Given the description of an element on the screen output the (x, y) to click on. 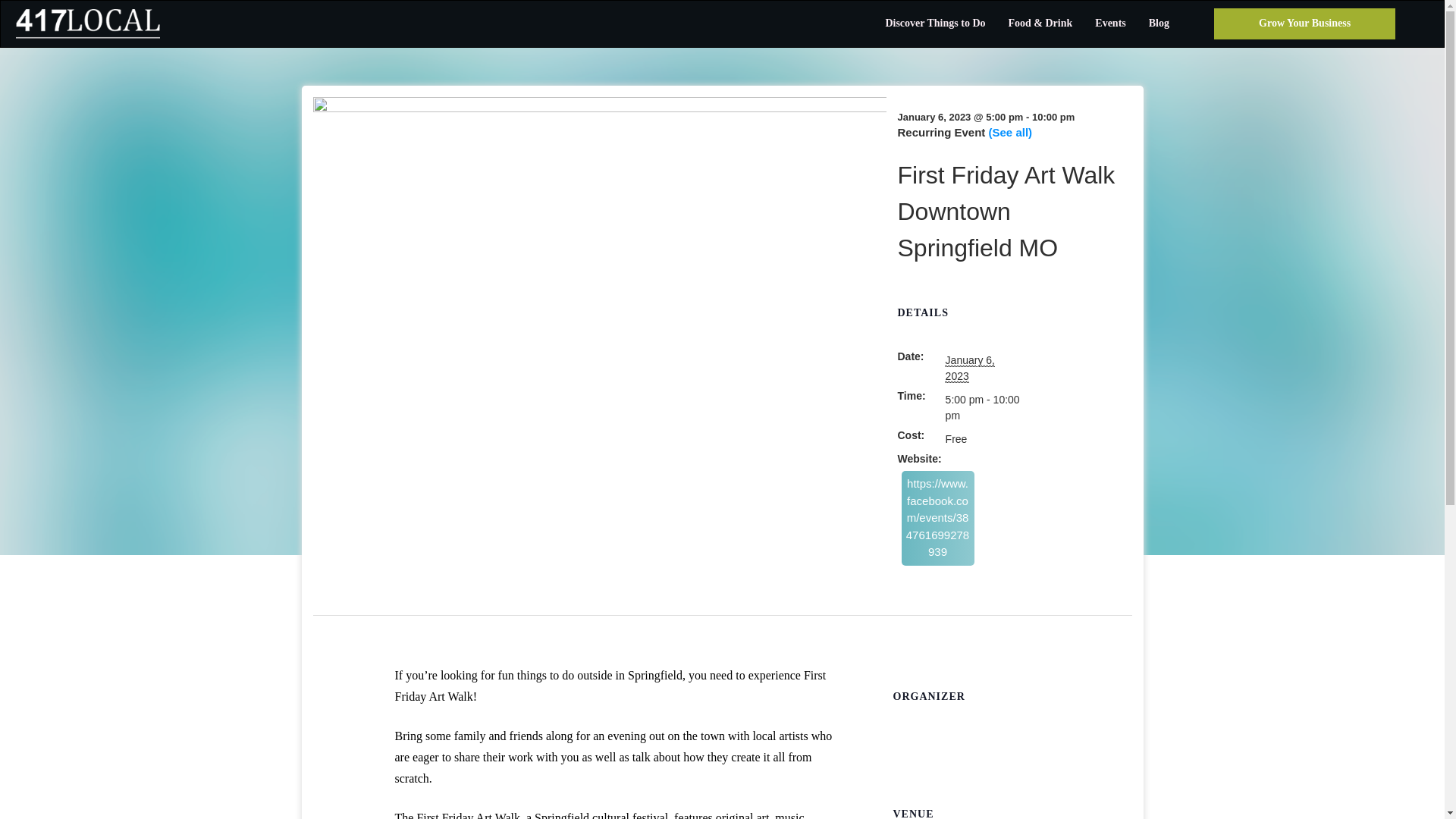
Grow Your Business (1304, 23)
Discover Things to Do (935, 23)
2023-01-06 (983, 408)
Blog (1158, 23)
2023-01-06 (969, 368)
Events (1109, 23)
